Given the description of an element on the screen output the (x, y) to click on. 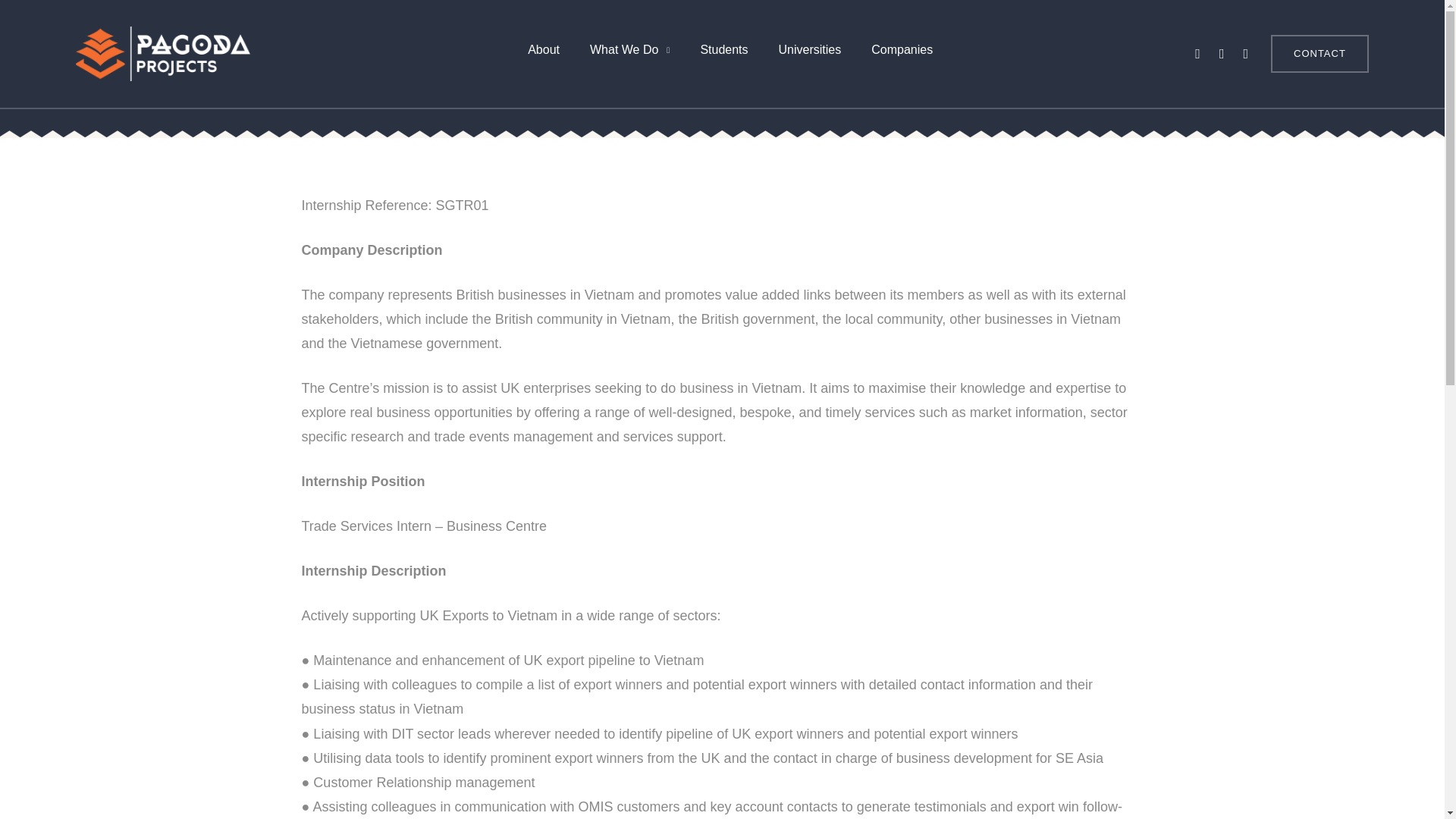
CONTACT (1319, 53)
Universities (809, 54)
Students (723, 54)
What We Do (629, 54)
About (543, 54)
Companies (901, 54)
